Given the description of an element on the screen output the (x, y) to click on. 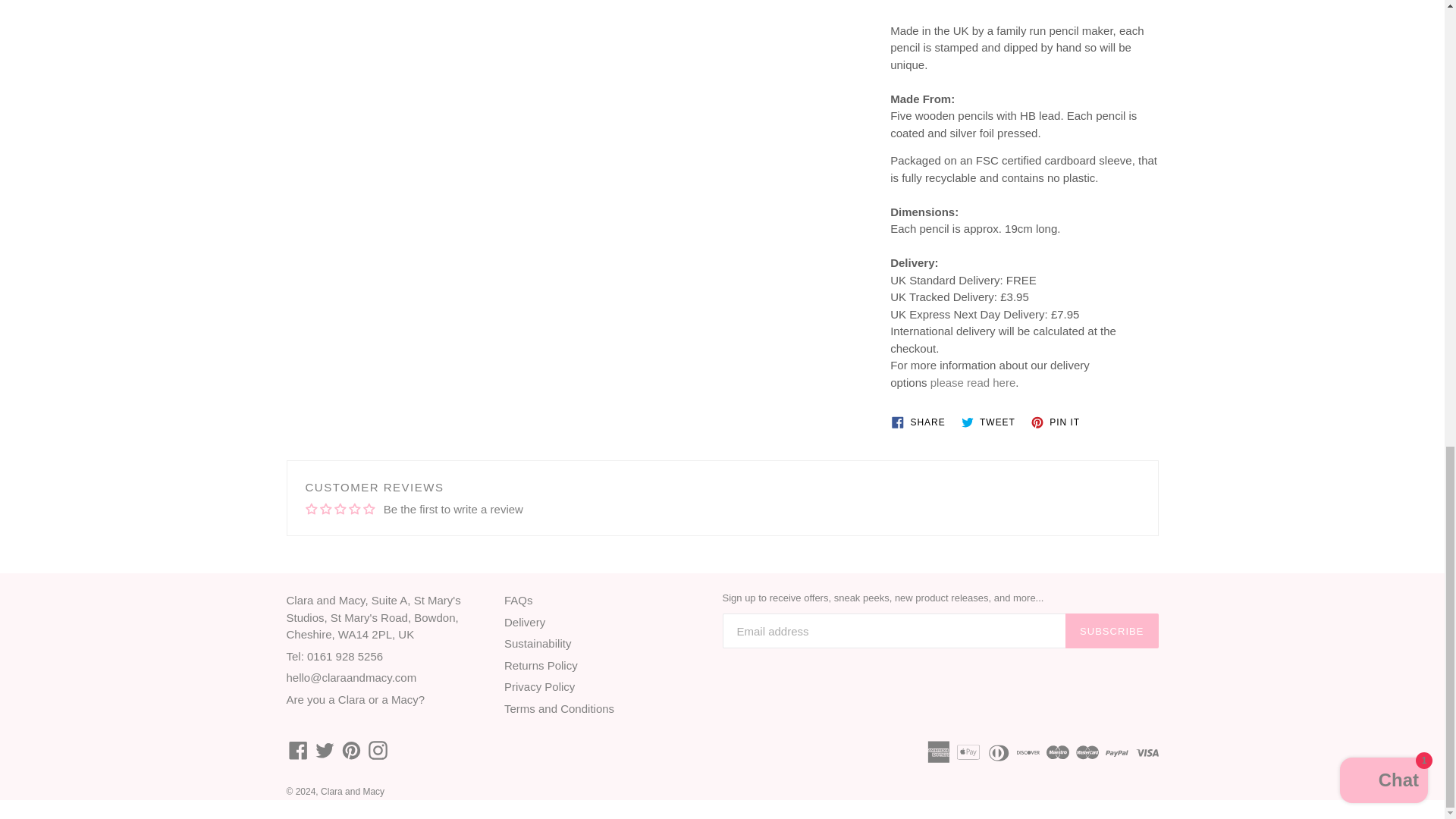
Clara and Macy on Facebook (298, 750)
Share on Facebook (920, 422)
Clara and Macy on Pinterest (350, 750)
Pin on Pinterest (1058, 422)
Clara and Macy on Twitter (324, 750)
Tweet on Twitter (991, 422)
Clara and Macy on Instagram (378, 750)
